Given the description of an element on the screen output the (x, y) to click on. 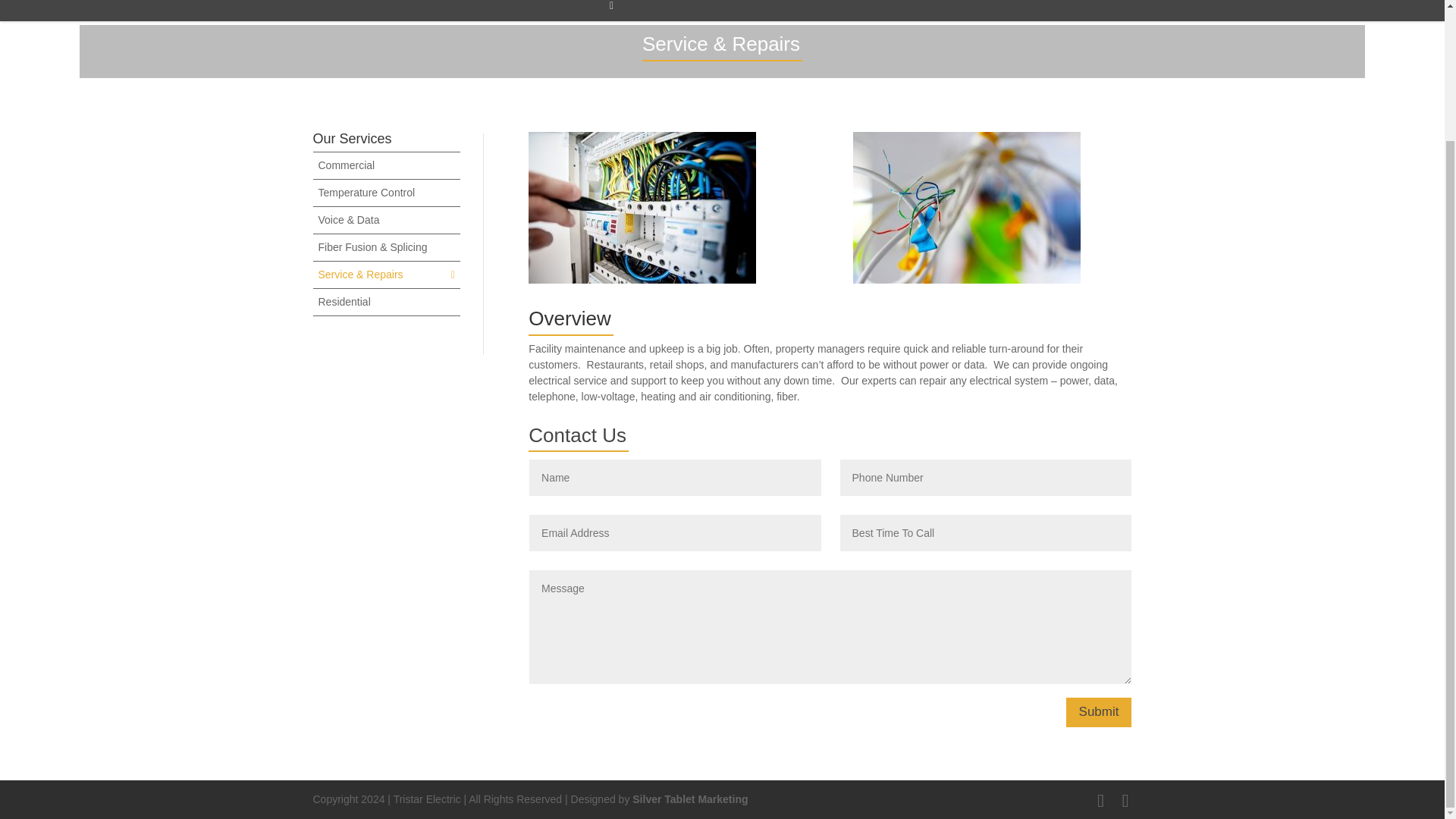
Commercial (346, 164)
Residential (344, 301)
Submit (1098, 712)
Services (608, 10)
Temperature Control (366, 192)
Contact Us (797, 10)
Silver Tablet Marketing (689, 799)
Home (526, 10)
Employment (903, 10)
About Us (699, 10)
